Given the description of an element on the screen output the (x, y) to click on. 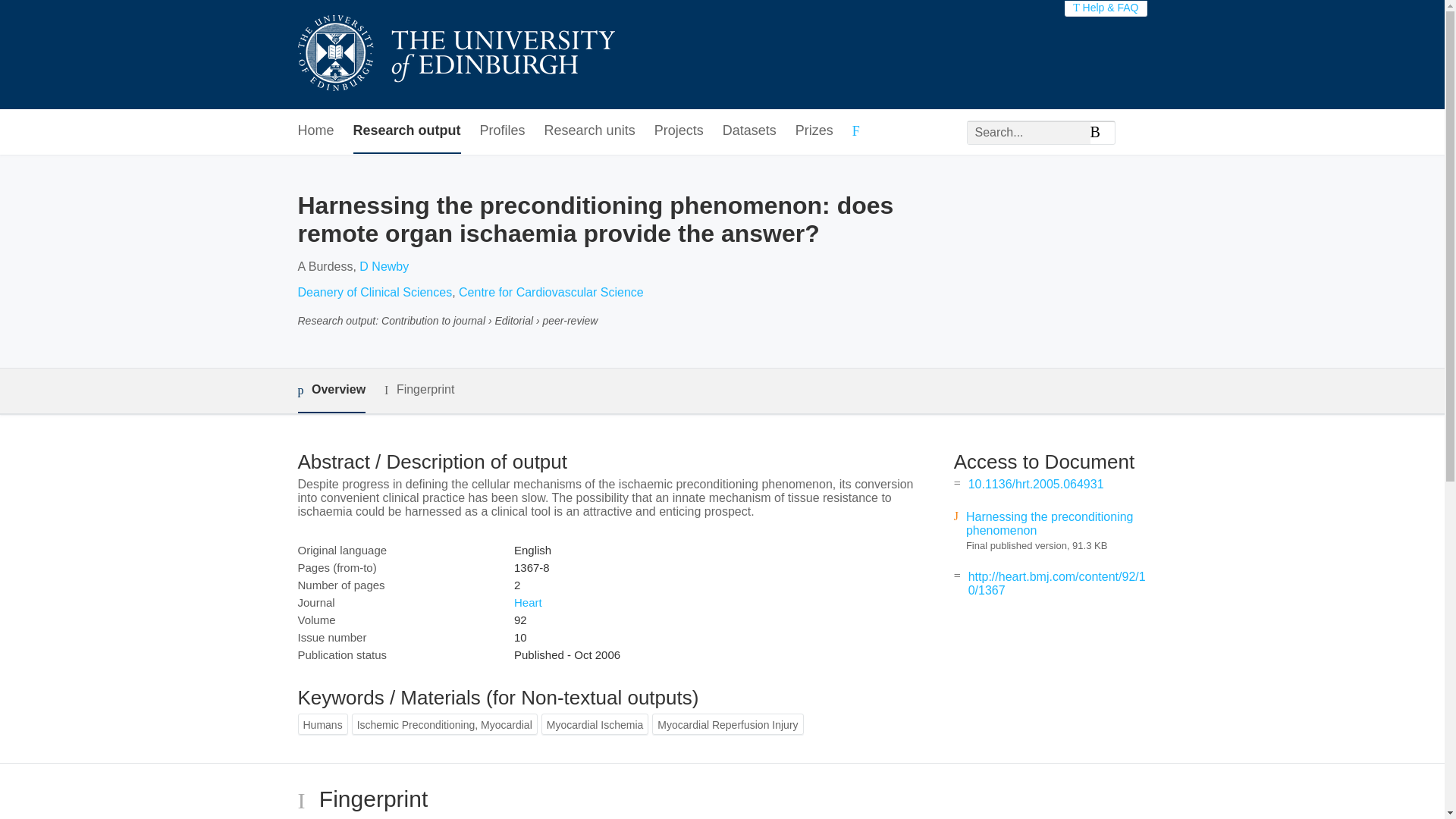
Centre for Cardiovascular Science (550, 291)
D Newby (384, 266)
Harnessing the preconditioning phenomenon (1050, 523)
University of Edinburgh Research Explorer Home (455, 54)
Overview (331, 390)
Datasets (749, 130)
Research output (407, 130)
Projects (678, 130)
Profiles (502, 130)
Deanery of Clinical Sciences (374, 291)
